Given the description of an element on the screen output the (x, y) to click on. 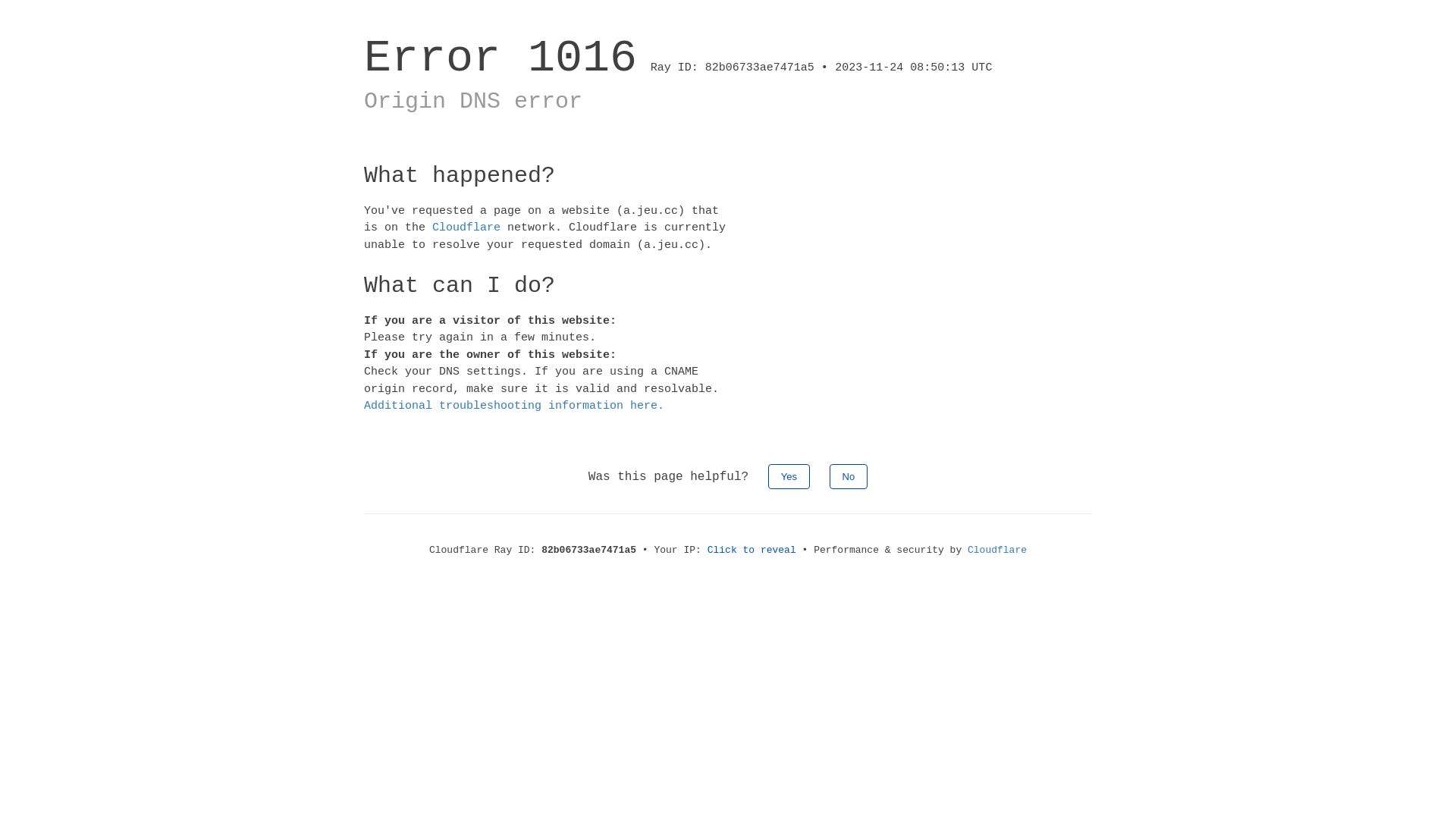
Cloudflare Element type: text (466, 227)
Additional troubleshooting information here. Element type: text (514, 405)
Click to reveal Element type: text (751, 549)
Cloudflare Element type: text (996, 549)
Yes Element type: text (788, 476)
No Element type: text (848, 476)
